Given the description of an element on the screen output the (x, y) to click on. 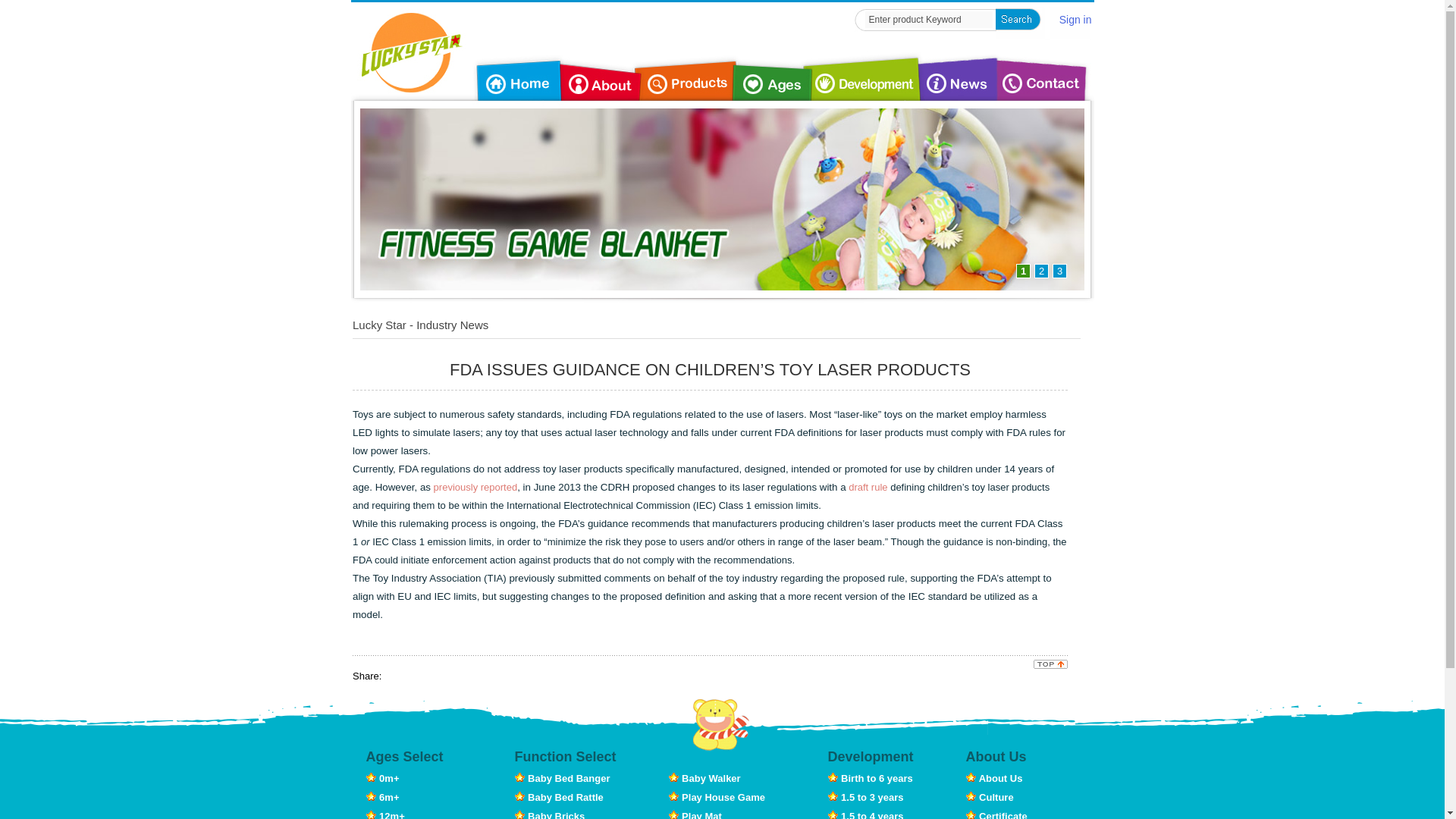
Sign in (1075, 19)
draft rule (867, 487)
2 (1040, 270)
Enter product Keyword (928, 19)
previously reported (475, 487)
3 (1059, 270)
1 (1023, 270)
